Given the description of an element on the screen output the (x, y) to click on. 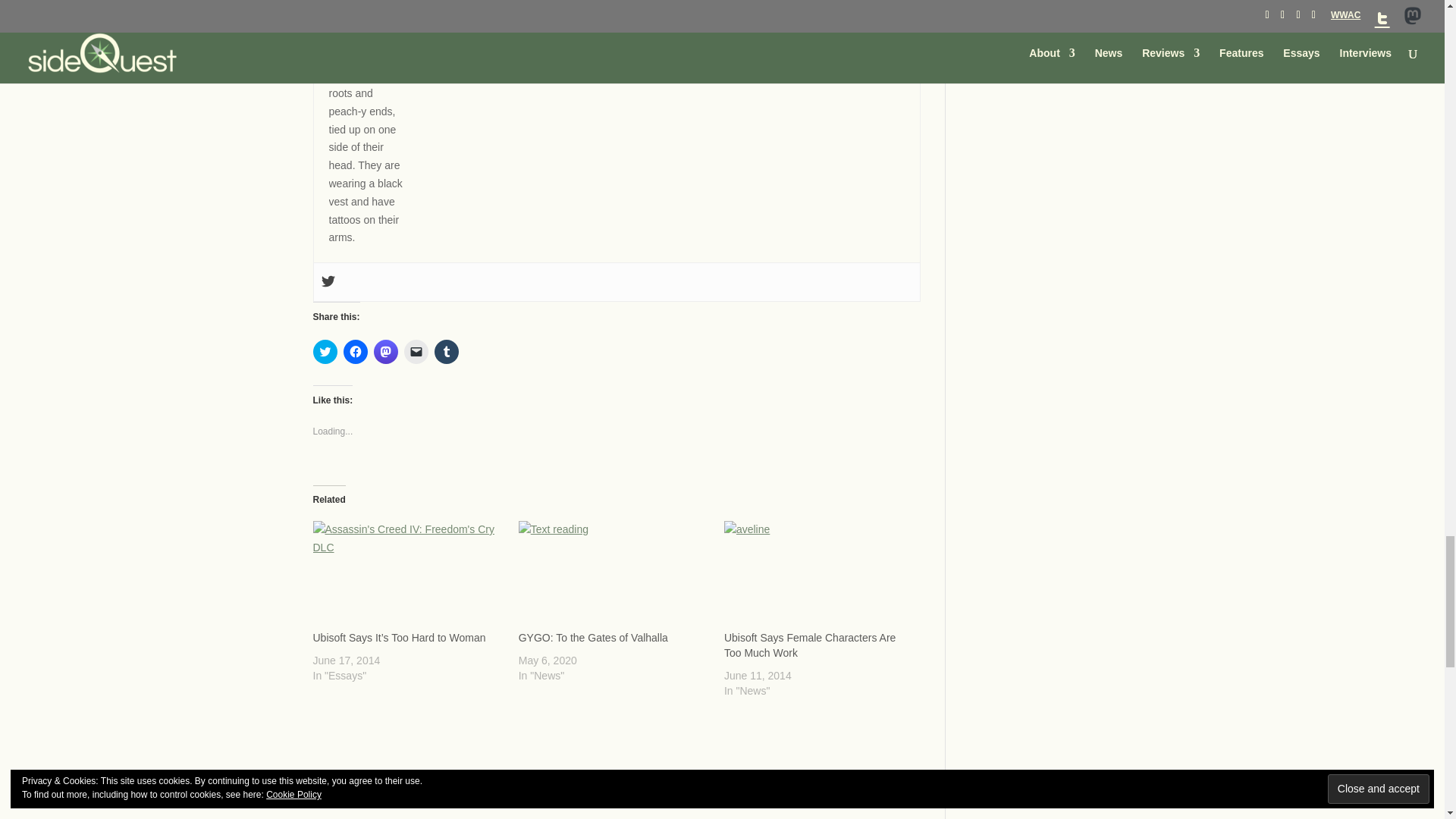
Click to share on Facebook (354, 351)
Twitter (327, 281)
GYGO: To the Gates of Valhalla (593, 636)
Ubisoft Says Female Characters Are Too Much Work (818, 574)
Ubisoft Says Female Characters Are Too Much Work (809, 644)
Click to share on Twitter (324, 351)
Click to share on Mastodon (384, 351)
Click to email a link to a friend (415, 351)
GYGO: To the Gates of Valhalla (613, 574)
Click to share on Tumblr (445, 351)
